Given the description of an element on the screen output the (x, y) to click on. 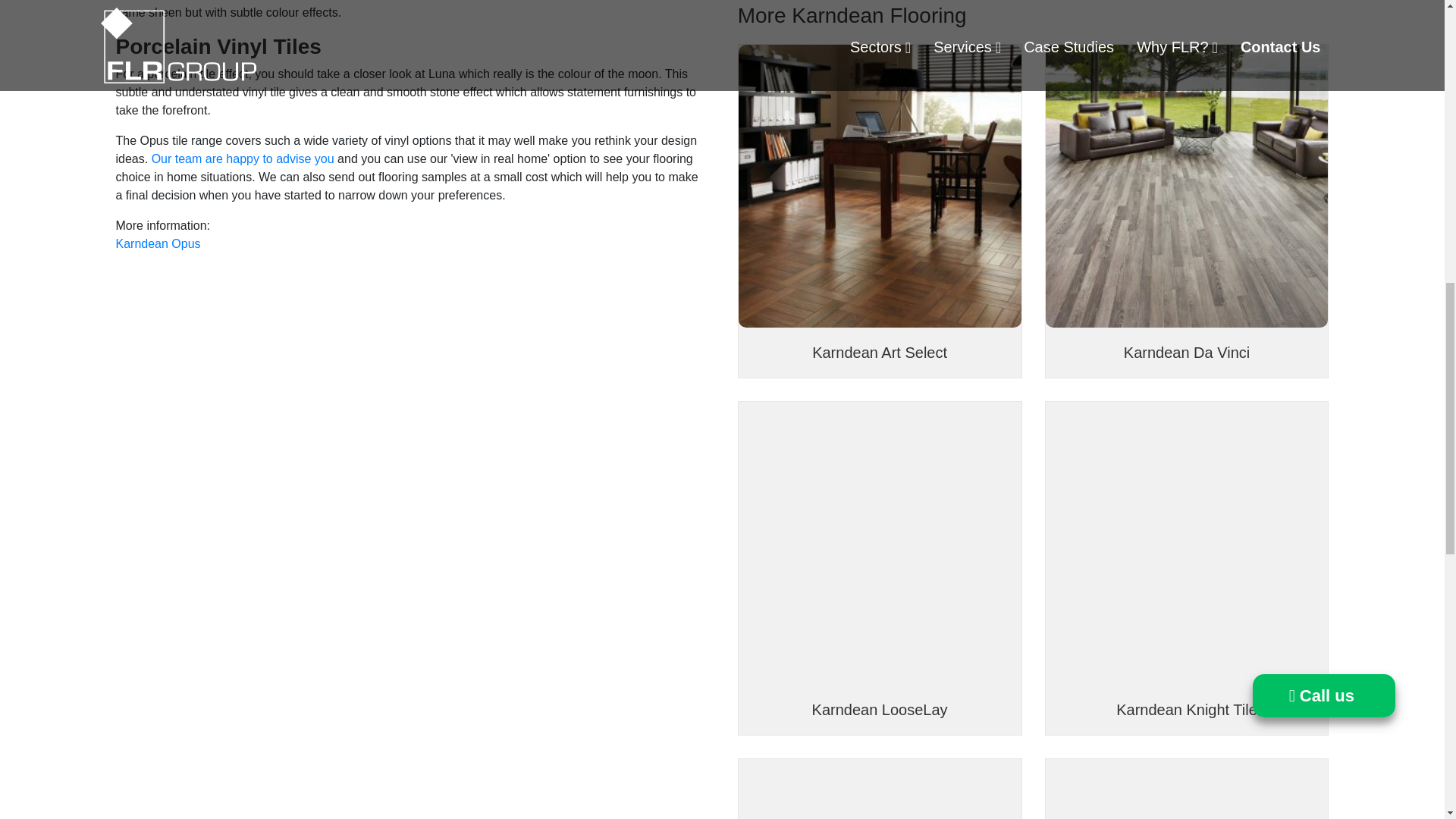
Karndean Knight Tile (1186, 541)
Karndean Knight Tile (1186, 709)
Karndean LooseLay (880, 541)
Karndean Da Vinci (1186, 184)
Karndean Art Select (879, 352)
Karndean LooseLay (879, 709)
Karndean Art Select (880, 184)
Karndean Da Vinci (1186, 352)
